Given the description of an element on the screen output the (x, y) to click on. 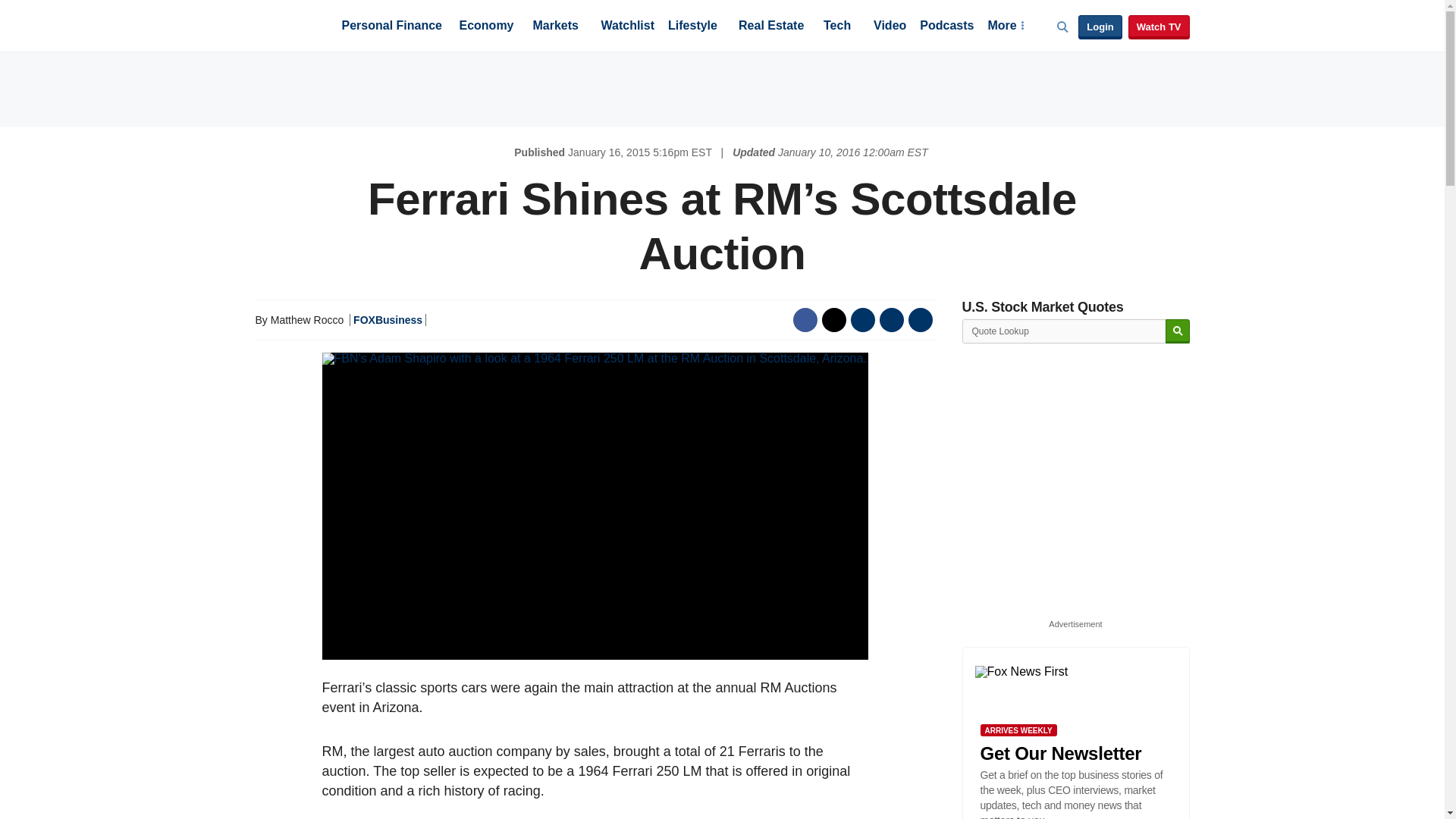
More (1005, 27)
Tech (837, 27)
Lifestyle (692, 27)
Real Estate (770, 27)
Search (1176, 331)
Personal Finance (391, 27)
Markets (555, 27)
Economy (486, 27)
Fox Business (290, 24)
Search (1176, 331)
